Given the description of an element on the screen output the (x, y) to click on. 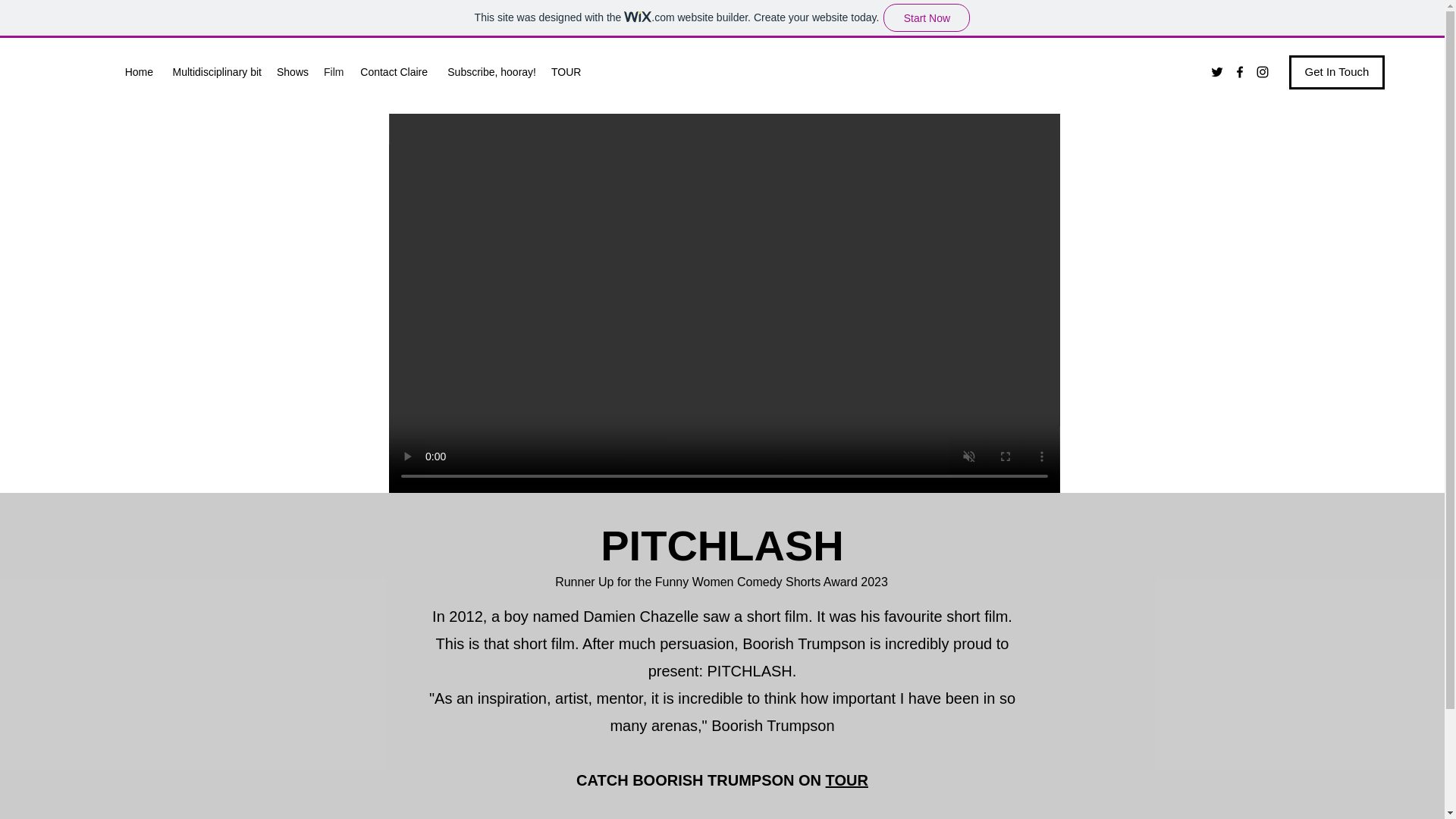
Film (332, 71)
Home (138, 71)
TOUR (846, 780)
Shows (292, 71)
Get In Touch (1336, 72)
Multidisciplinary bit (214, 71)
Subscribe, hooray! (489, 71)
Contact Claire (392, 71)
TOUR (565, 71)
